Given the description of an element on the screen output the (x, y) to click on. 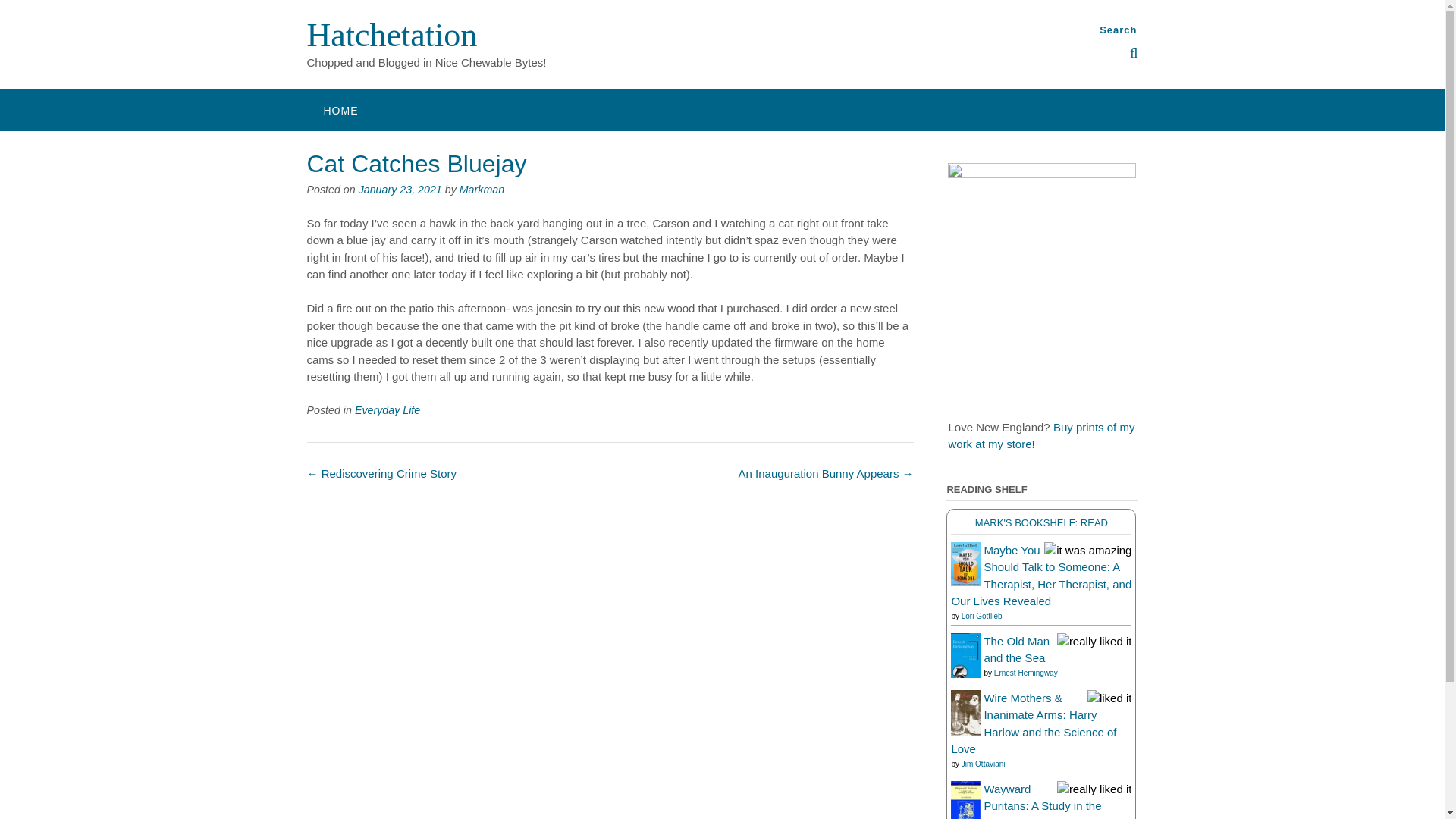
Lori Gottlieb (981, 614)
Wayward Puritans: A Study in the Sociology of Deviance (964, 816)
Hatchetation (391, 35)
Everyday Life (387, 410)
MARK'S BOOKSHELF: READ (1041, 522)
Jim Ottaviani (983, 764)
Ernest Hemingway (1026, 673)
it was amazing (1087, 549)
January 23, 2021 (400, 189)
The Old Man and the Sea (964, 673)
Hatchetation (391, 35)
liked it (1109, 697)
Markman (481, 189)
